Given the description of an element on the screen output the (x, y) to click on. 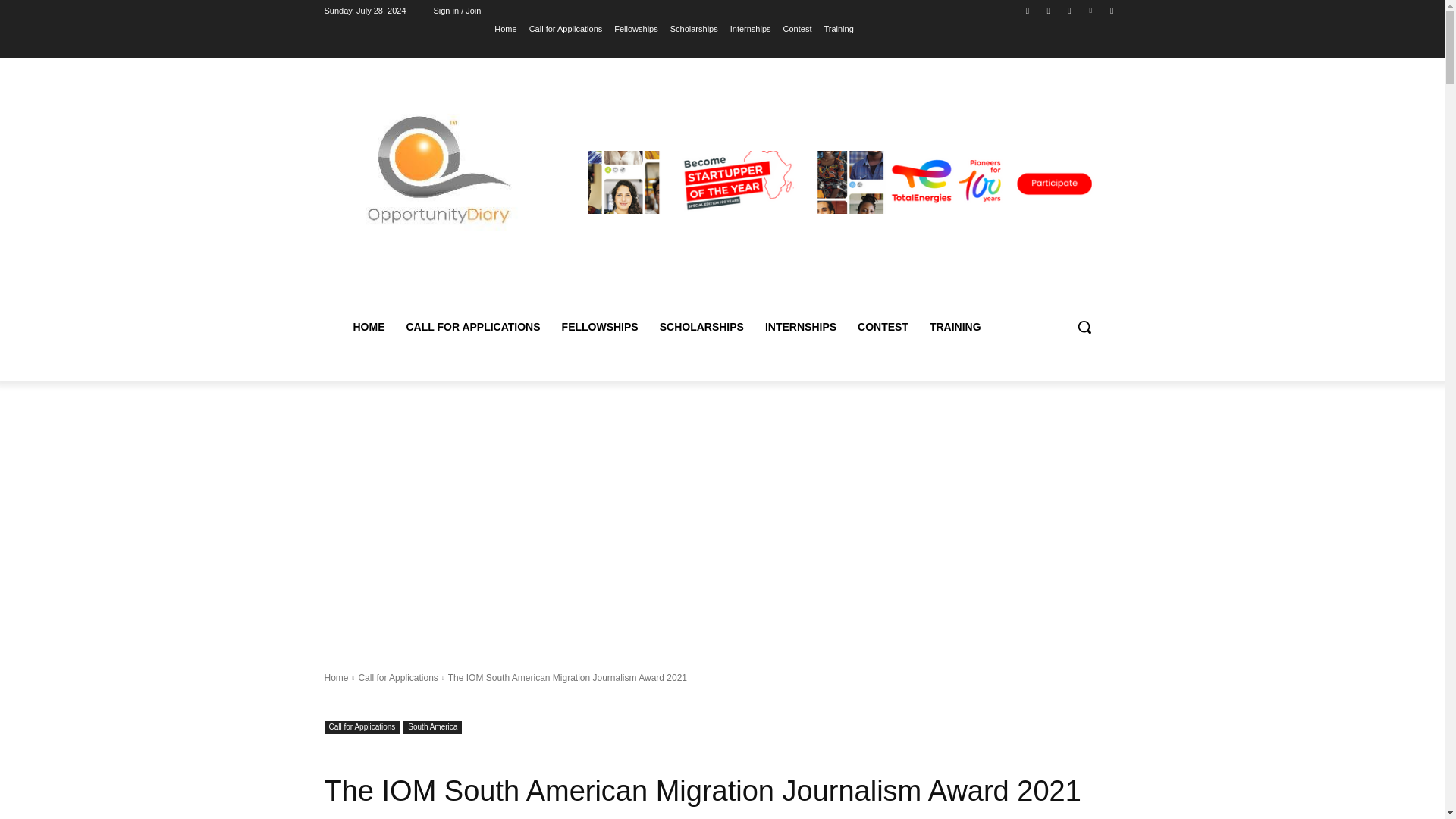
Scholarships (693, 28)
Internships (750, 28)
SCHOLARSHIPS (701, 326)
Twitter (1069, 9)
Call for Applications (362, 727)
Fellowships (636, 28)
Vimeo (1090, 9)
HOME (369, 326)
Home (505, 28)
CONTEST (882, 326)
Instagram (1048, 9)
Call for Applications (398, 677)
TRAINING (954, 326)
Youtube (1112, 9)
Call for Applications (565, 28)
